Given the description of an element on the screen output the (x, y) to click on. 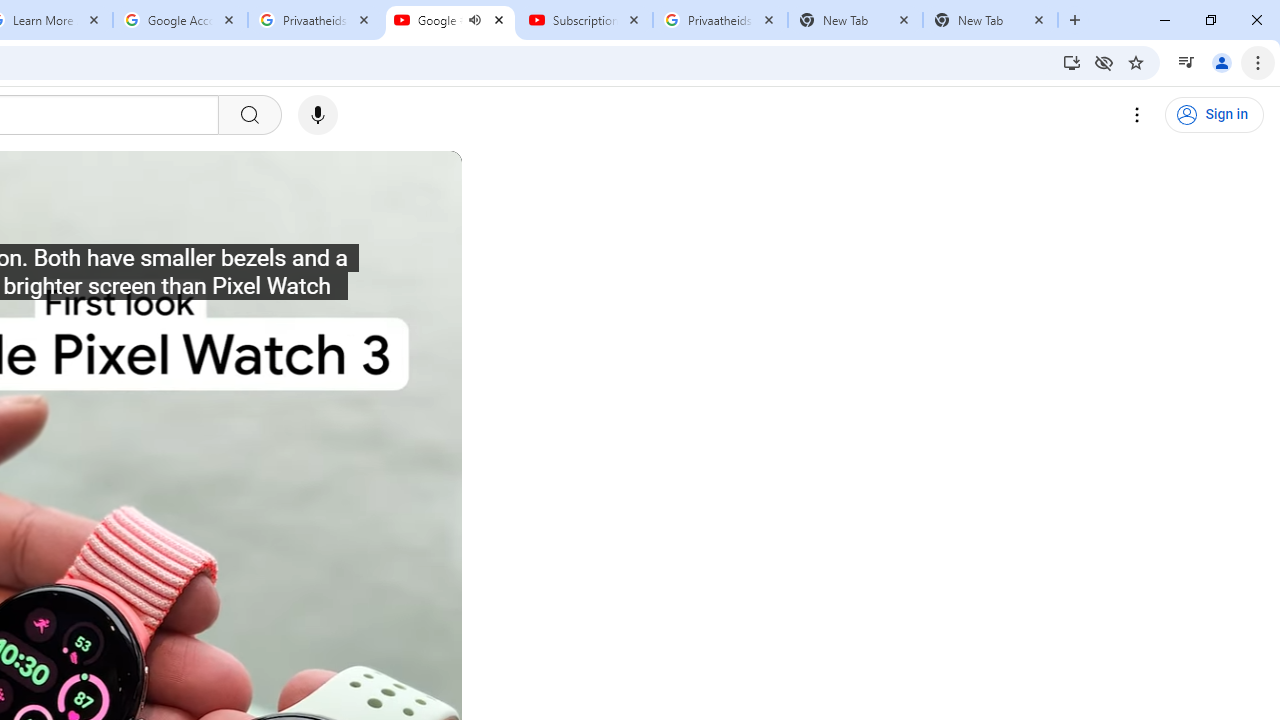
Google Account (180, 20)
New Tab (990, 20)
